Given the description of an element on the screen output the (x, y) to click on. 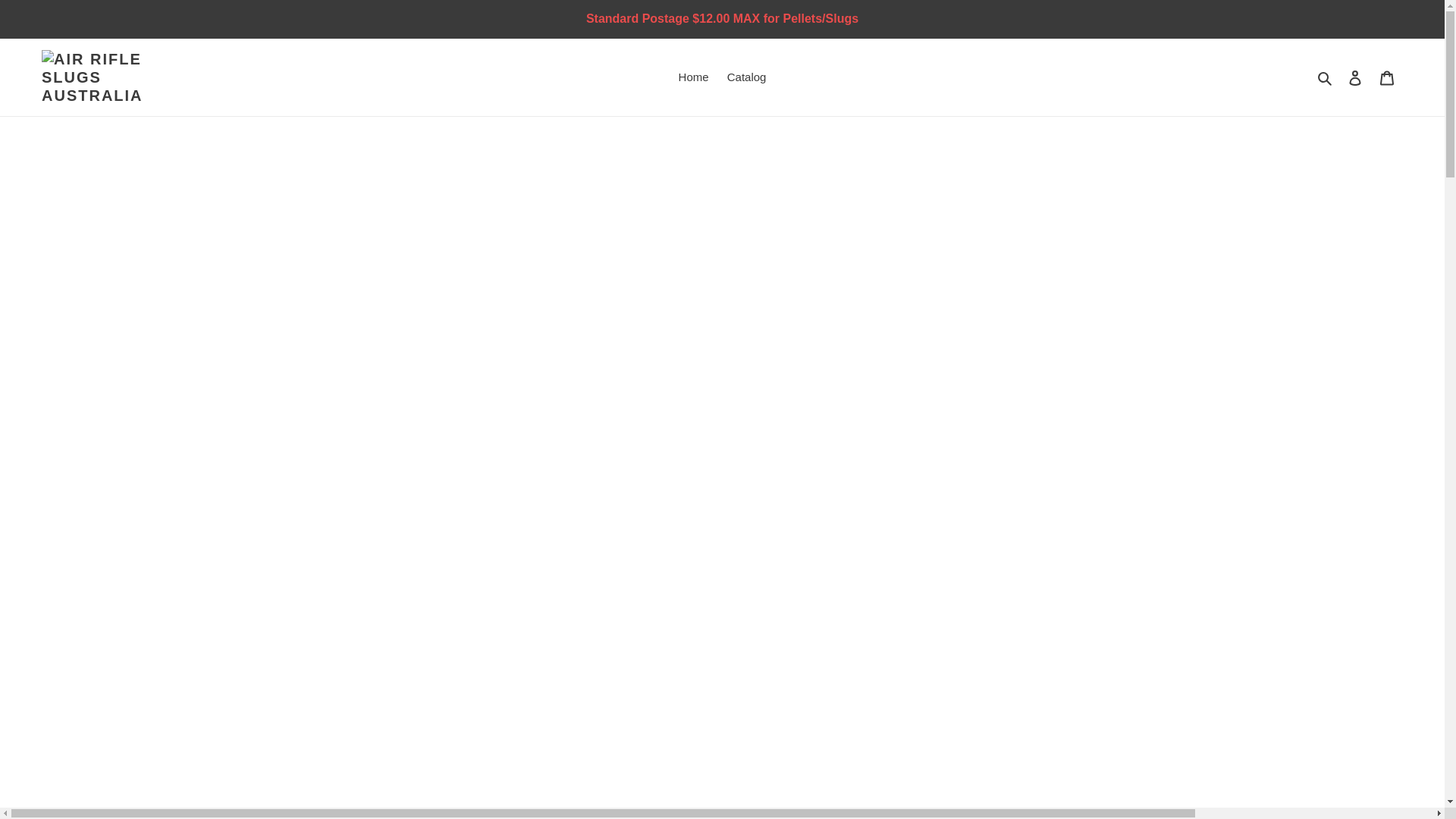
Home (693, 77)
Catalog (746, 77)
Search (1326, 76)
Log in (1355, 77)
Cart (1387, 77)
